Given the description of an element on the screen output the (x, y) to click on. 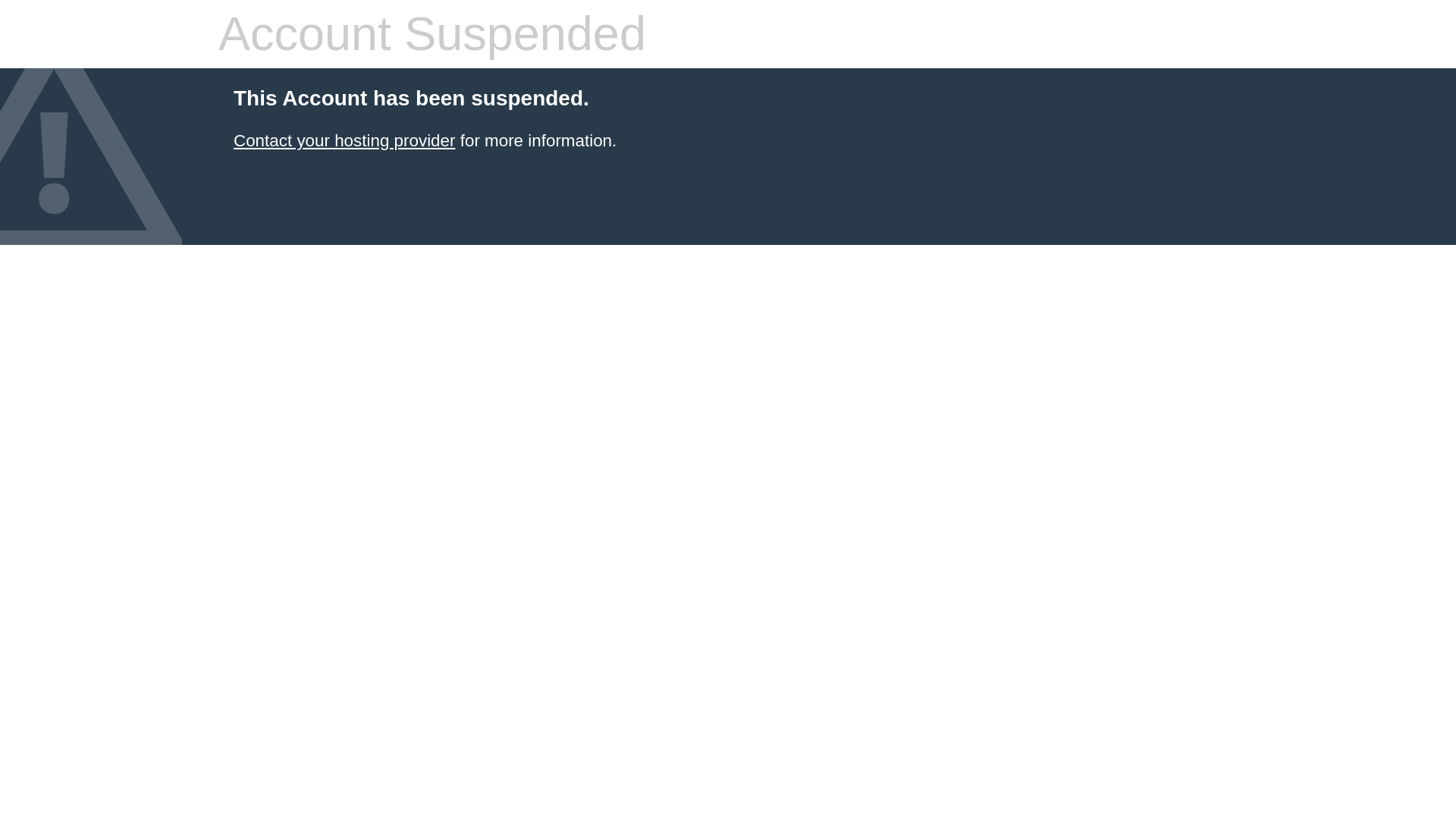
Contact your hosting provider (343, 140)
